Given the description of an element on the screen output the (x, y) to click on. 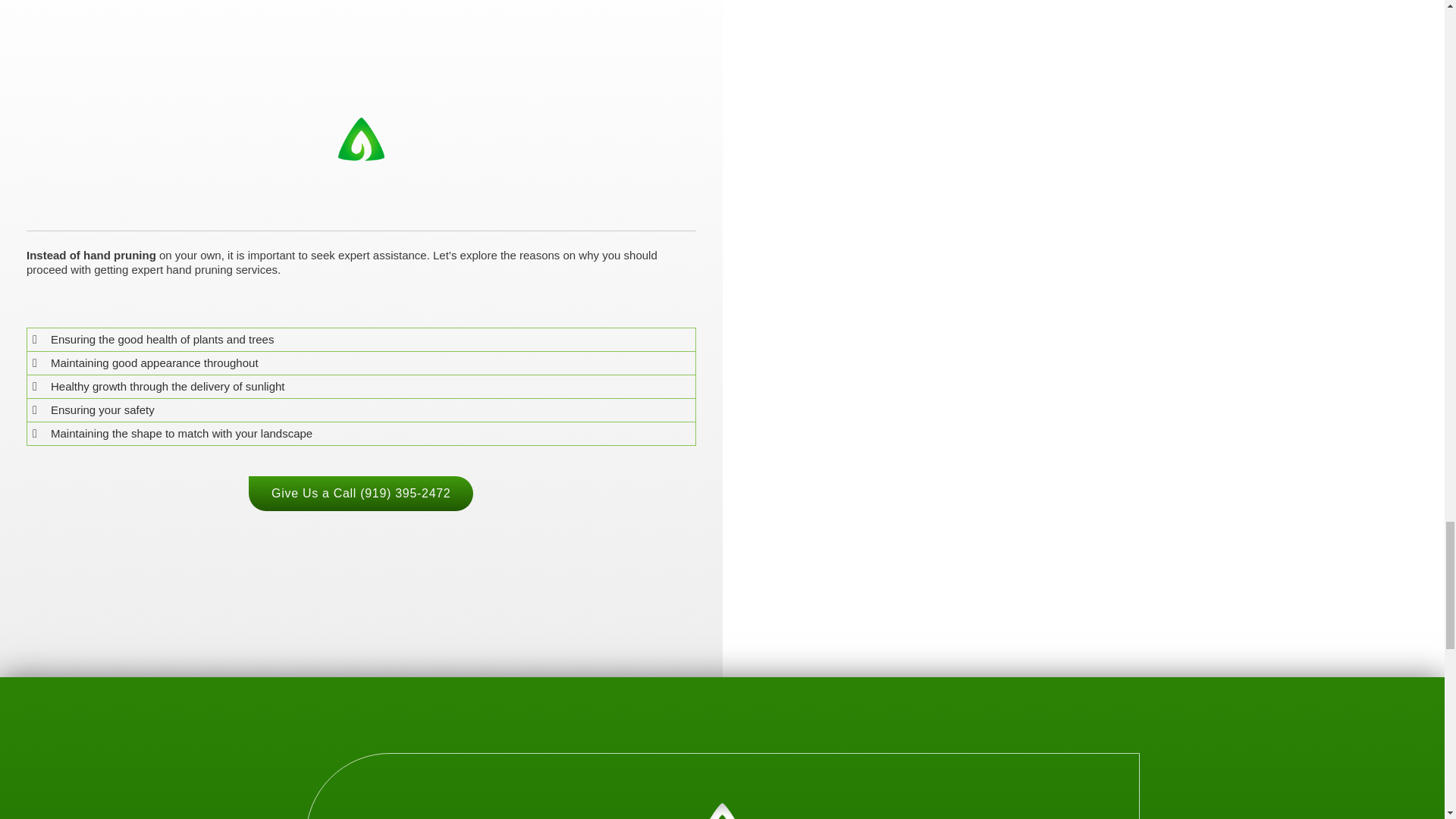
Maintaining the shape to match with your landscape (181, 432)
Maintaining good appearance throughout (154, 362)
Healthy growth through the delivery of sunlight (167, 386)
Ensuring your safety (102, 409)
Ensuring the good health of plants and trees (161, 338)
